Given the description of an element on the screen output the (x, y) to click on. 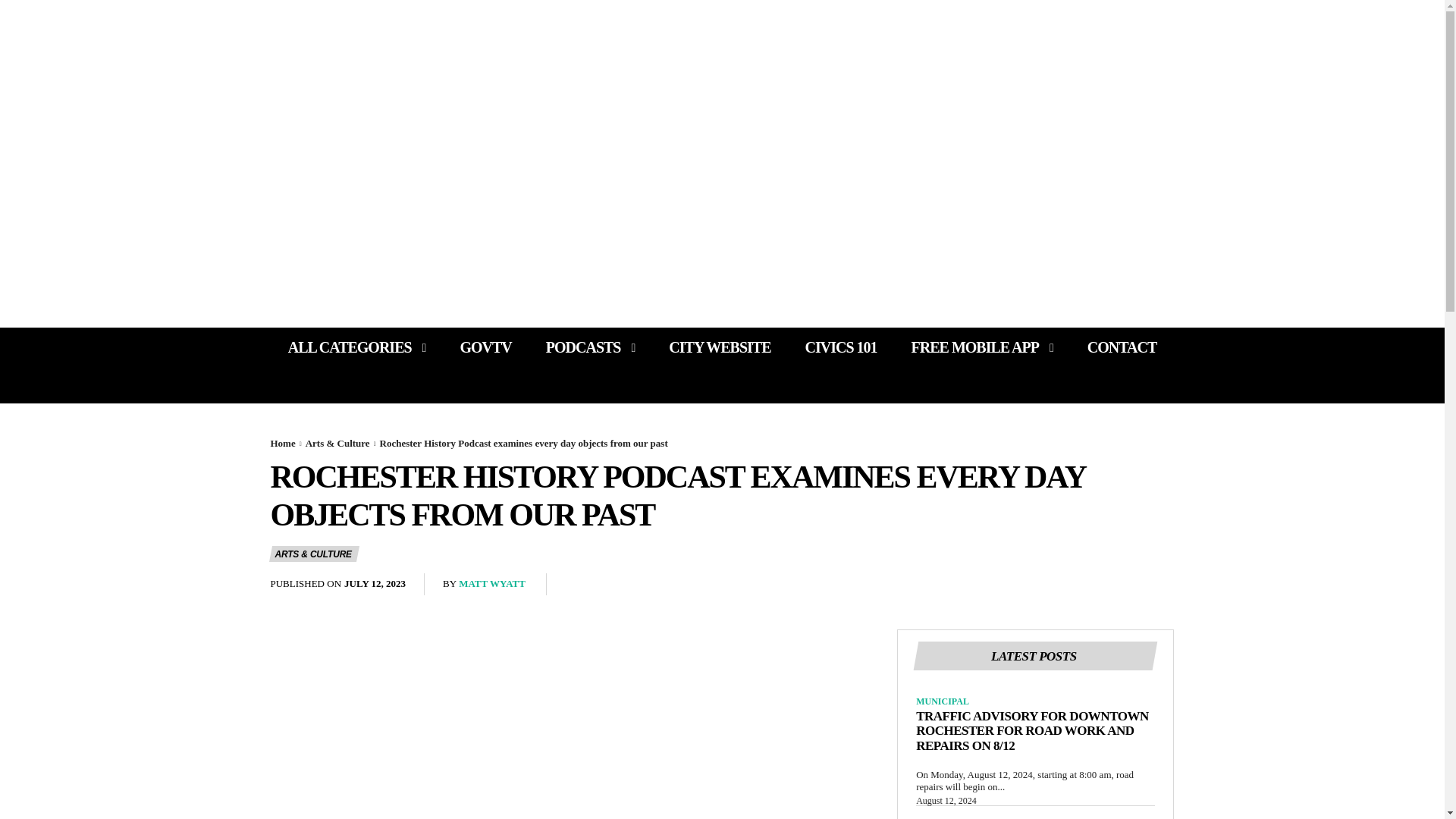
SUBSCRIBE (333, 186)
Subscribe (333, 186)
Youtube (441, 27)
Youtube (478, 27)
Facebook (272, 27)
Instagram (397, 27)
Instagram (357, 27)
Search (1115, 187)
Facebook (722, 163)
